Given the description of an element on the screen output the (x, y) to click on. 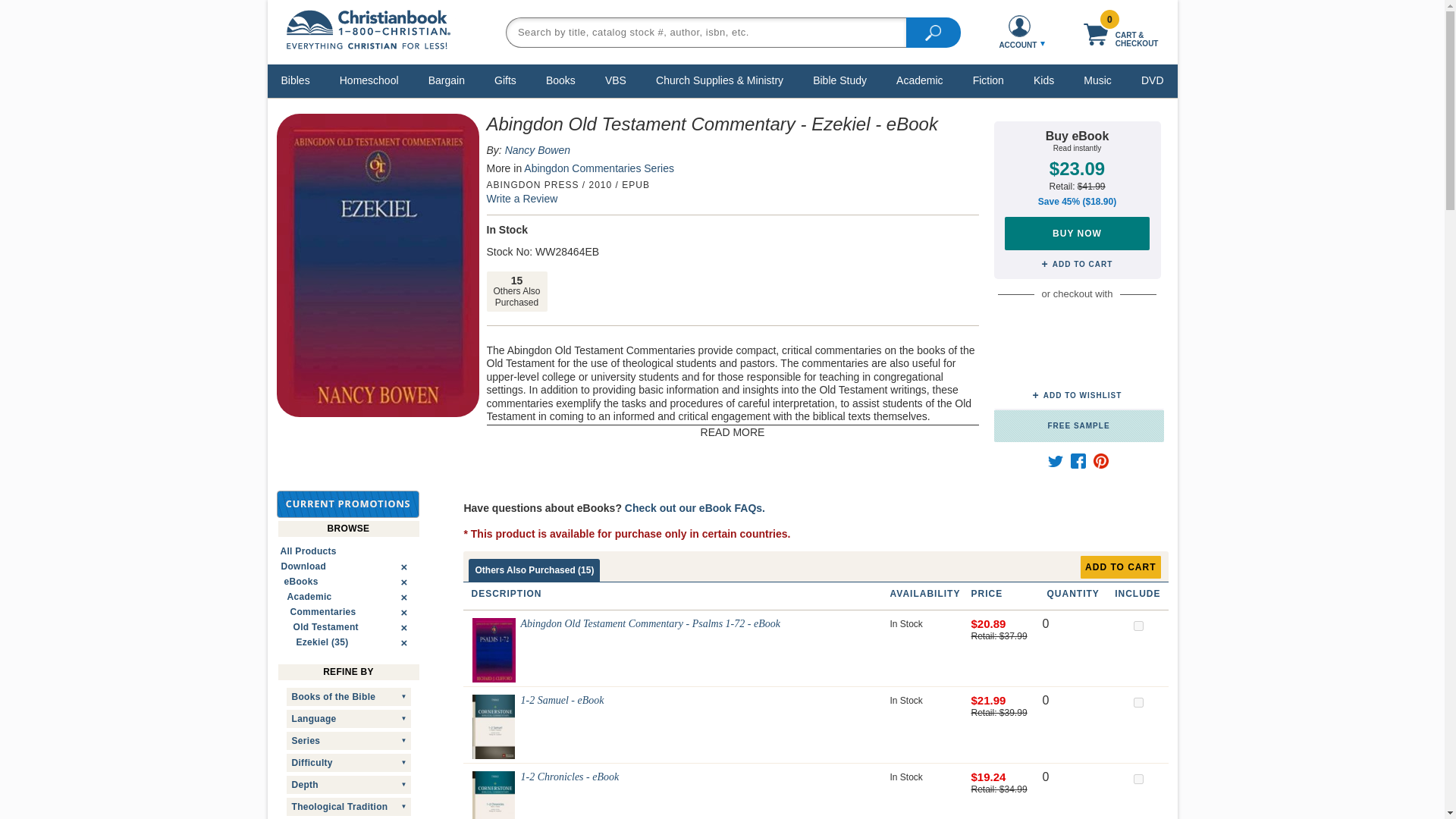
Add To Wishlist (1077, 395)
Music (1097, 79)
Bible Study (840, 79)
1-2 Chronicles - eBook (493, 794)
DVD (1152, 79)
Bibles (295, 79)
PayPal Message 1 (1076, 362)
Gifts (505, 79)
Place in Bookbag (1077, 264)
Fiction (988, 79)
Abingdon Commentaries Series (599, 168)
Books (560, 79)
Bargain (446, 79)
ACCOUNT (1019, 32)
Homeschool (369, 79)
